Given the description of an element on the screen output the (x, y) to click on. 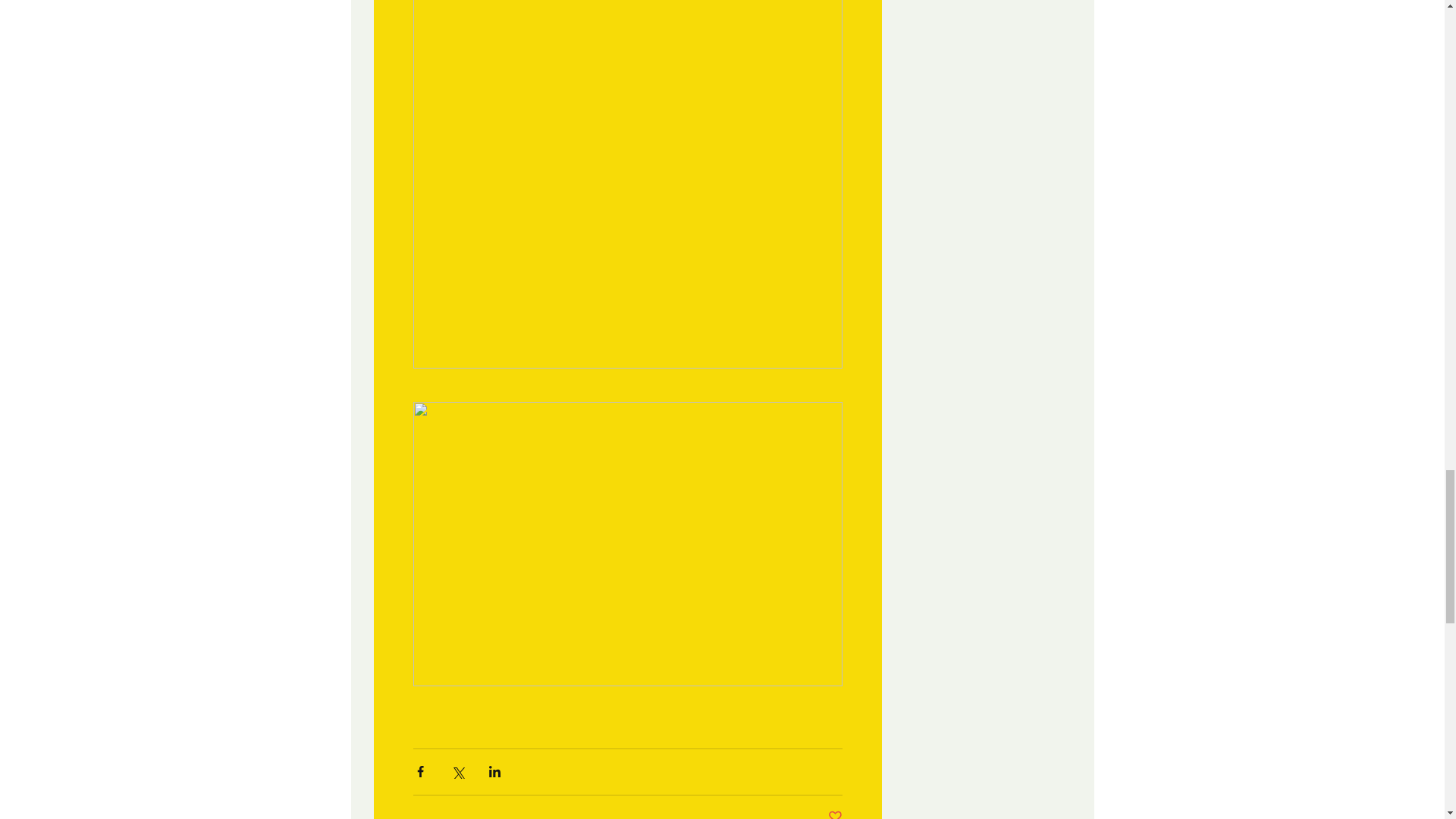
Post not marked as liked (835, 814)
